Given the description of an element on the screen output the (x, y) to click on. 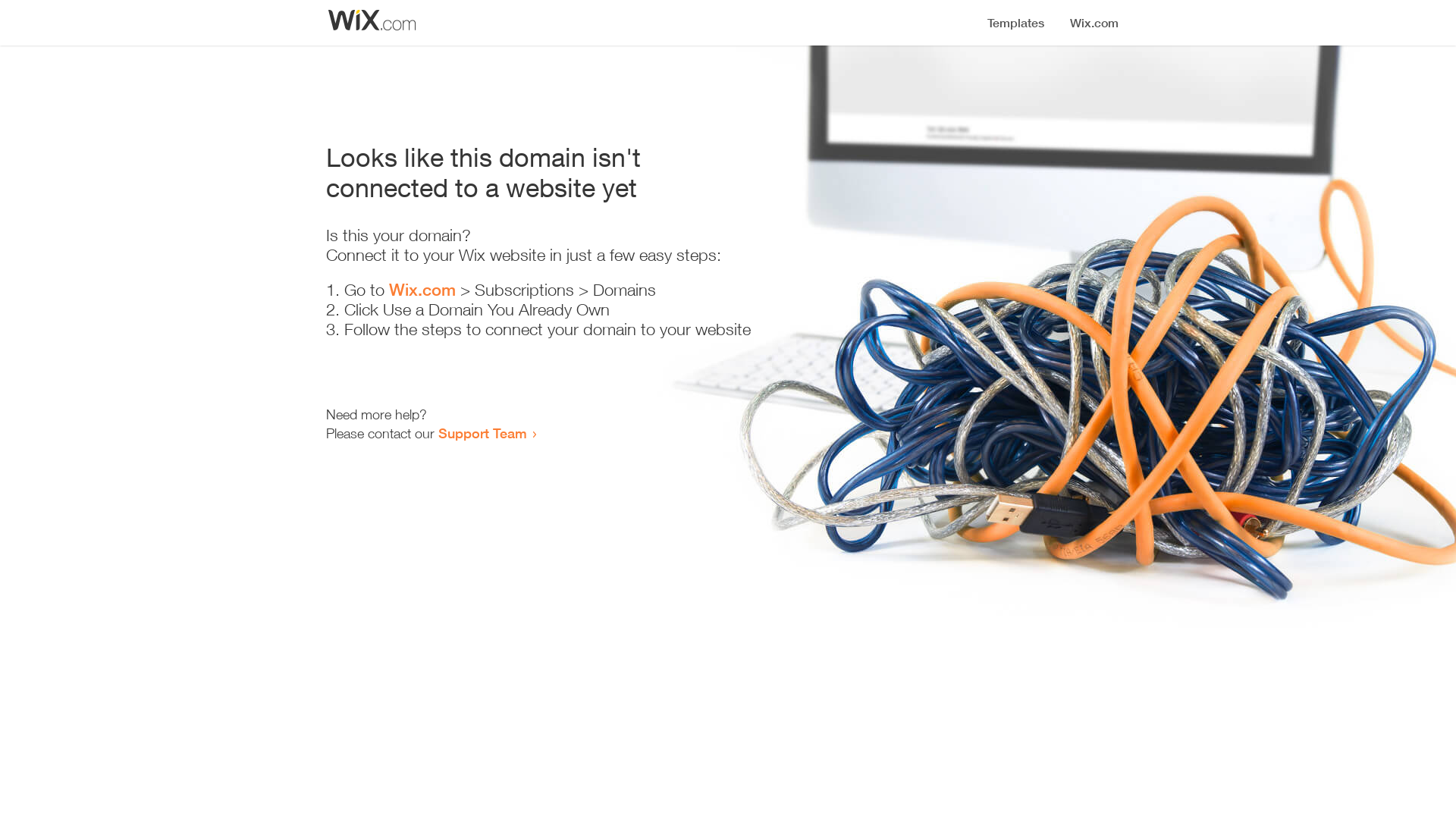
Wix.com Element type: text (422, 289)
Support Team Element type: text (482, 432)
